Given the description of an element on the screen output the (x, y) to click on. 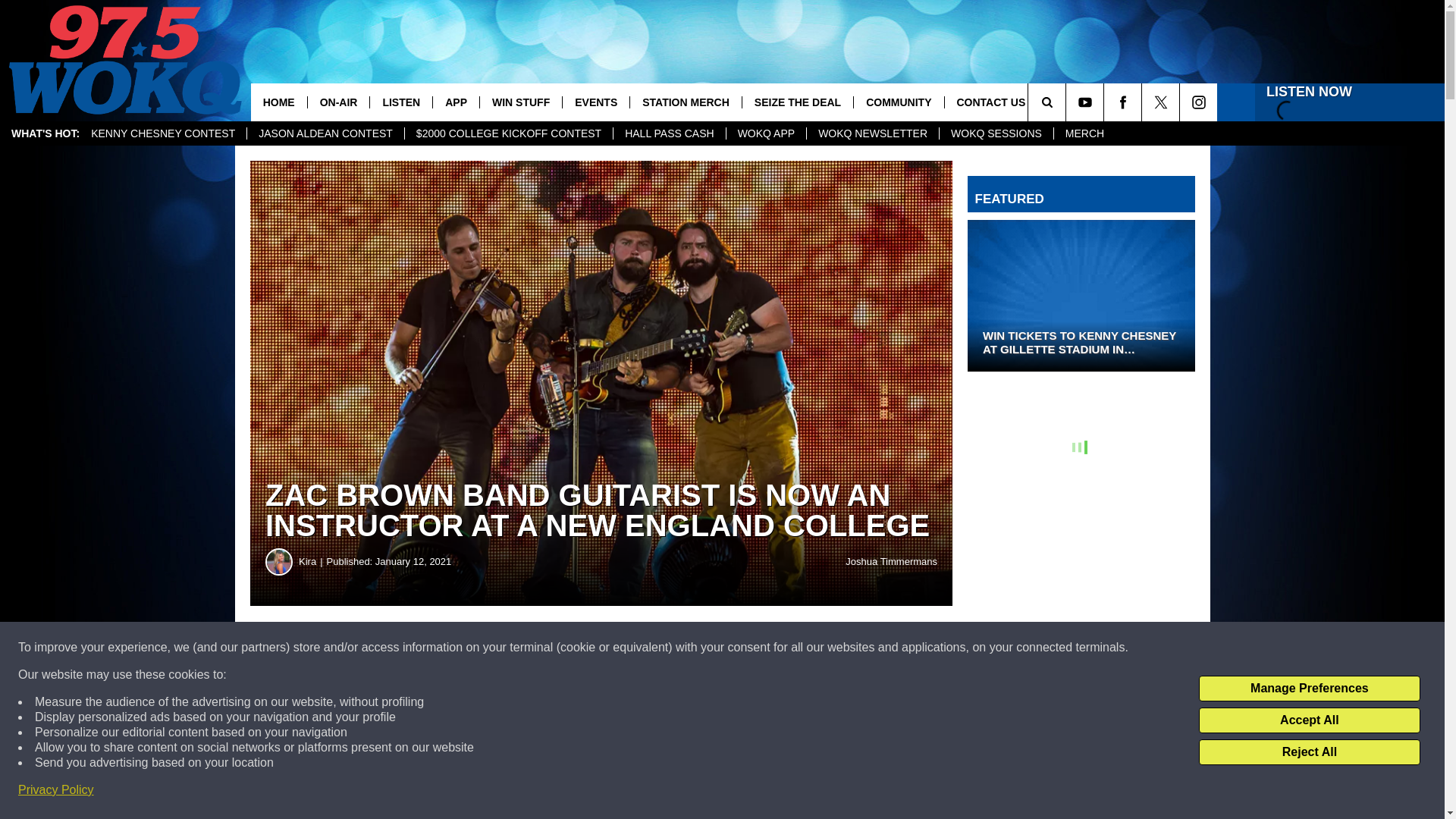
Accept All (1309, 720)
ON-AIR (338, 102)
WOKQ APP (765, 133)
KENNY CHESNEY CONTEST (163, 133)
HOME (278, 102)
WOKQ NEWSLETTER (872, 133)
Privacy Policy (55, 789)
HALL PASS CASH (668, 133)
WIN STUFF (520, 102)
APP (455, 102)
